Given the description of an element on the screen output the (x, y) to click on. 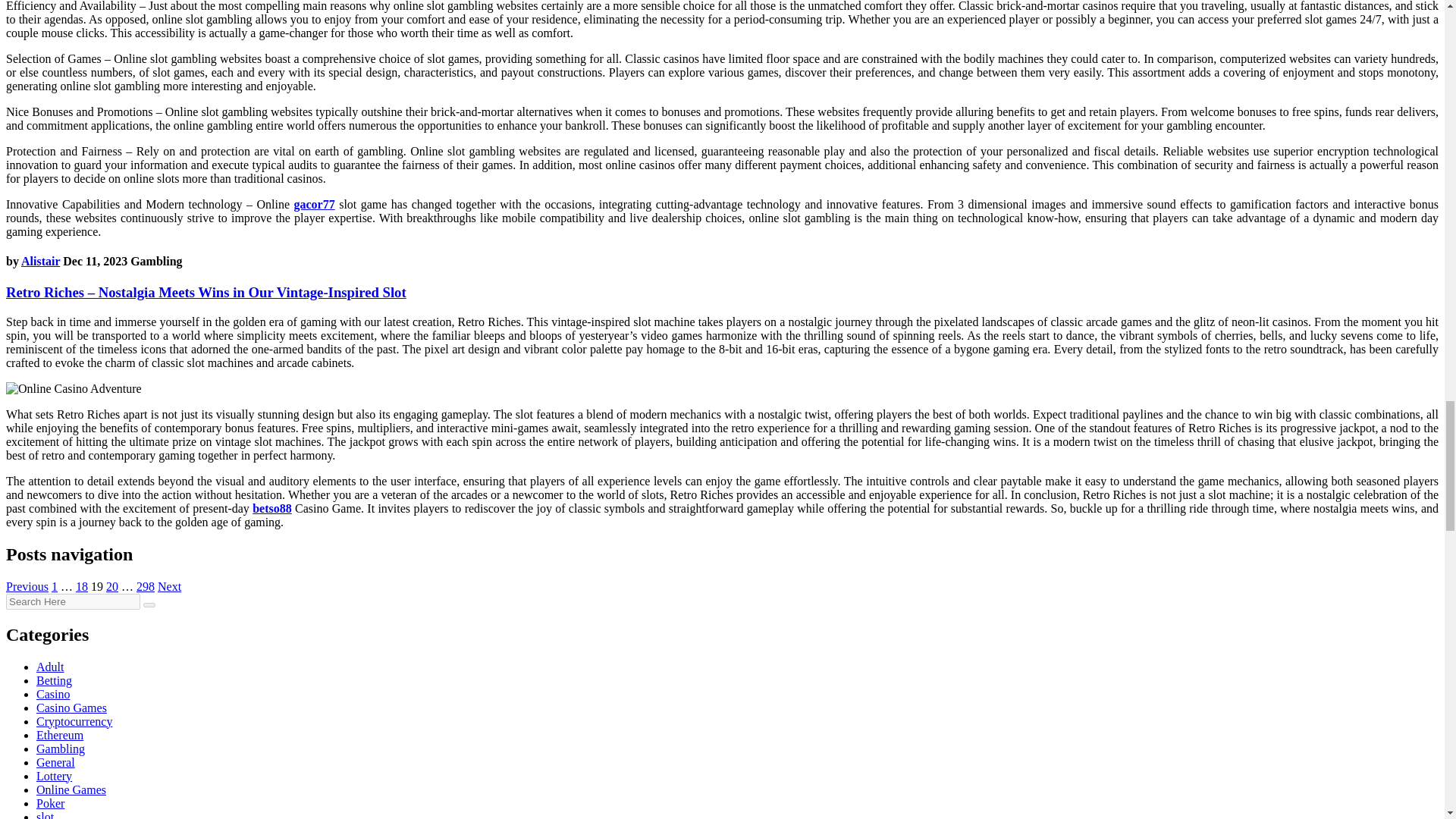
gacor77 (314, 204)
Alistair (40, 260)
